Given the description of an element on the screen output the (x, y) to click on. 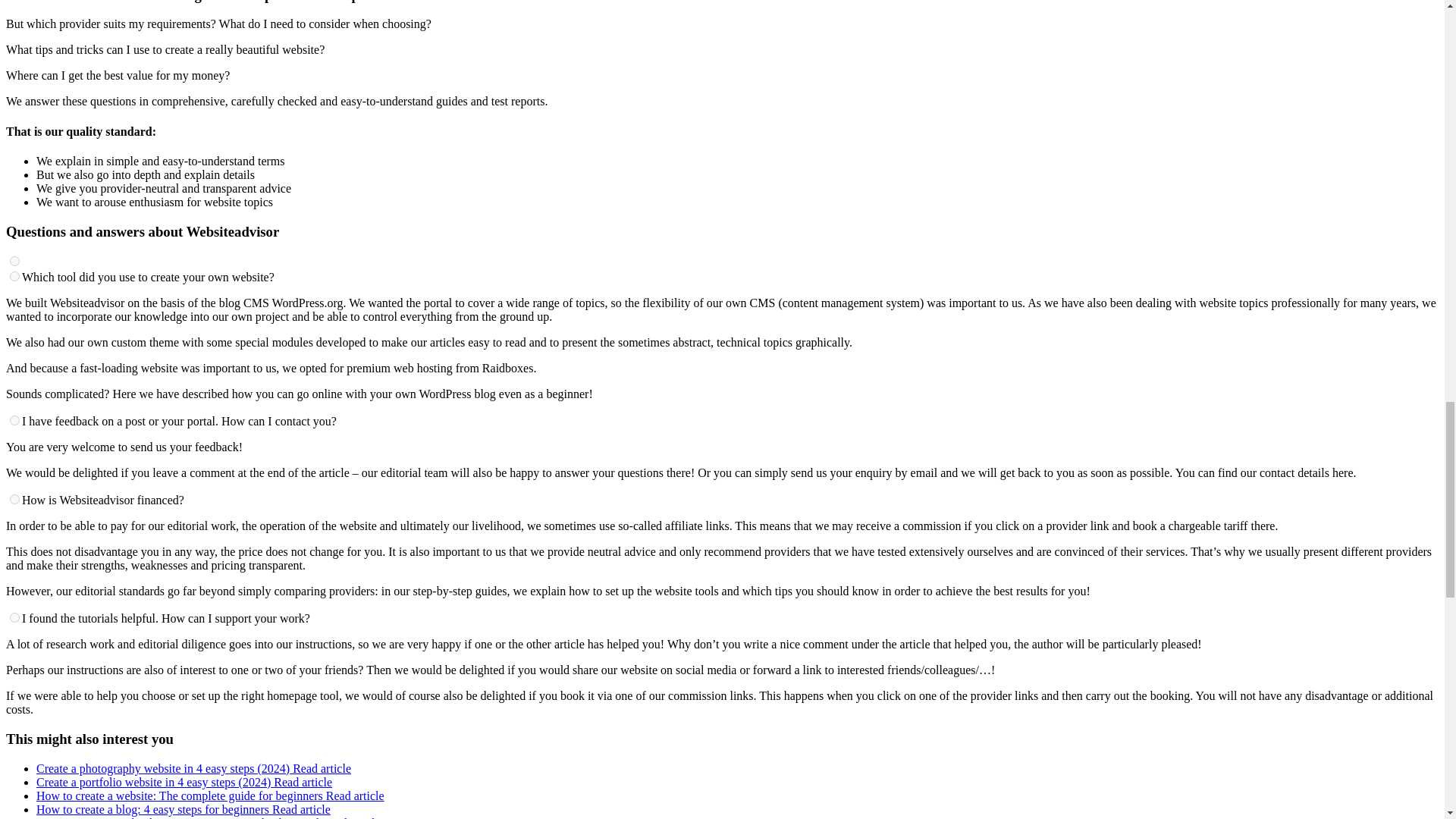
on (15, 276)
on (15, 420)
on (15, 261)
on (15, 617)
on (15, 499)
